Given the description of an element on the screen output the (x, y) to click on. 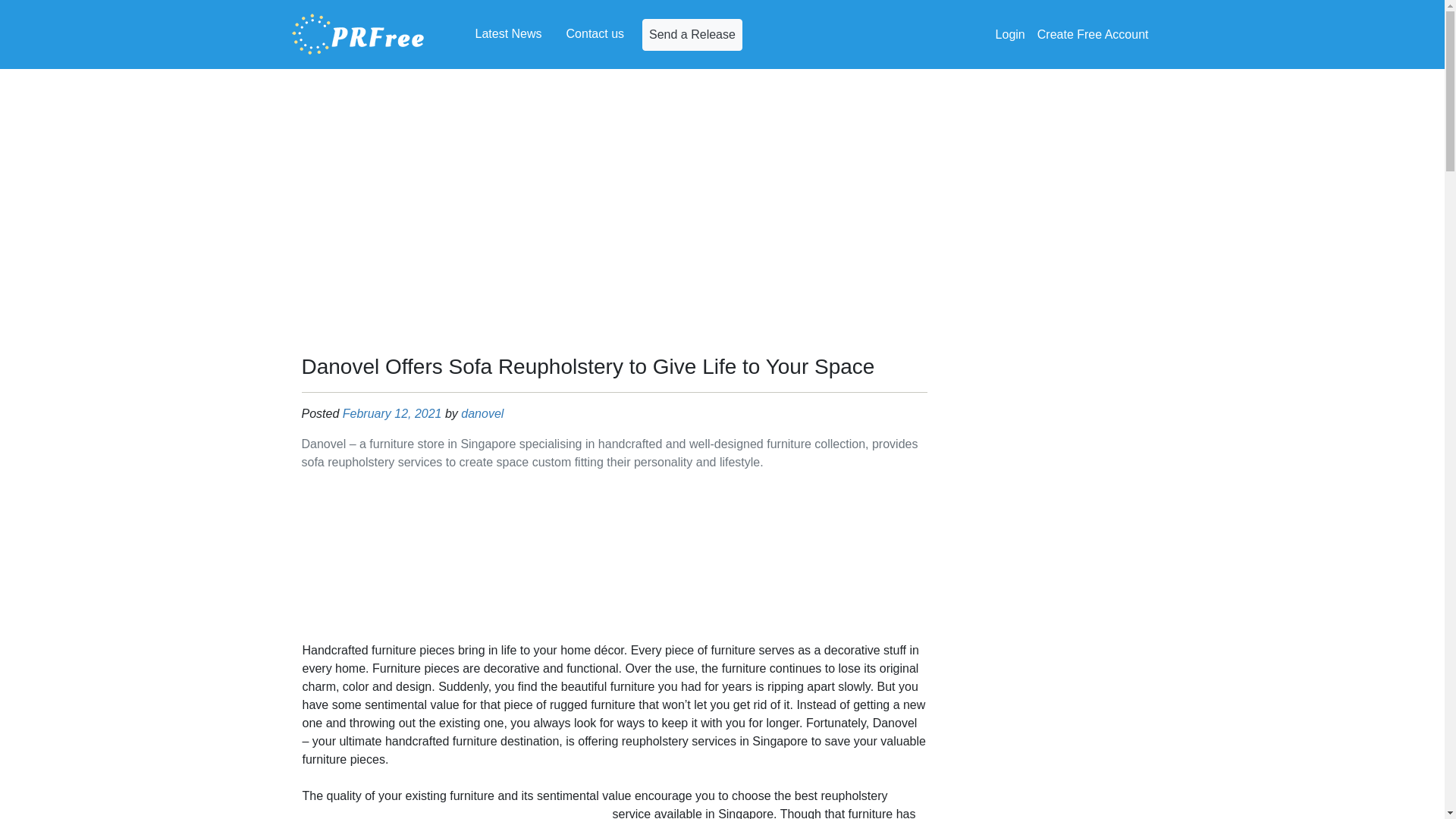
Advertisement (614, 559)
Latest News (507, 33)
danovel (482, 413)
February 12, 2021 (392, 413)
Contact us (595, 33)
Login (1010, 34)
Send a Release (692, 33)
PFRree (357, 34)
Create Free Account (1092, 34)
